Given the description of an element on the screen output the (x, y) to click on. 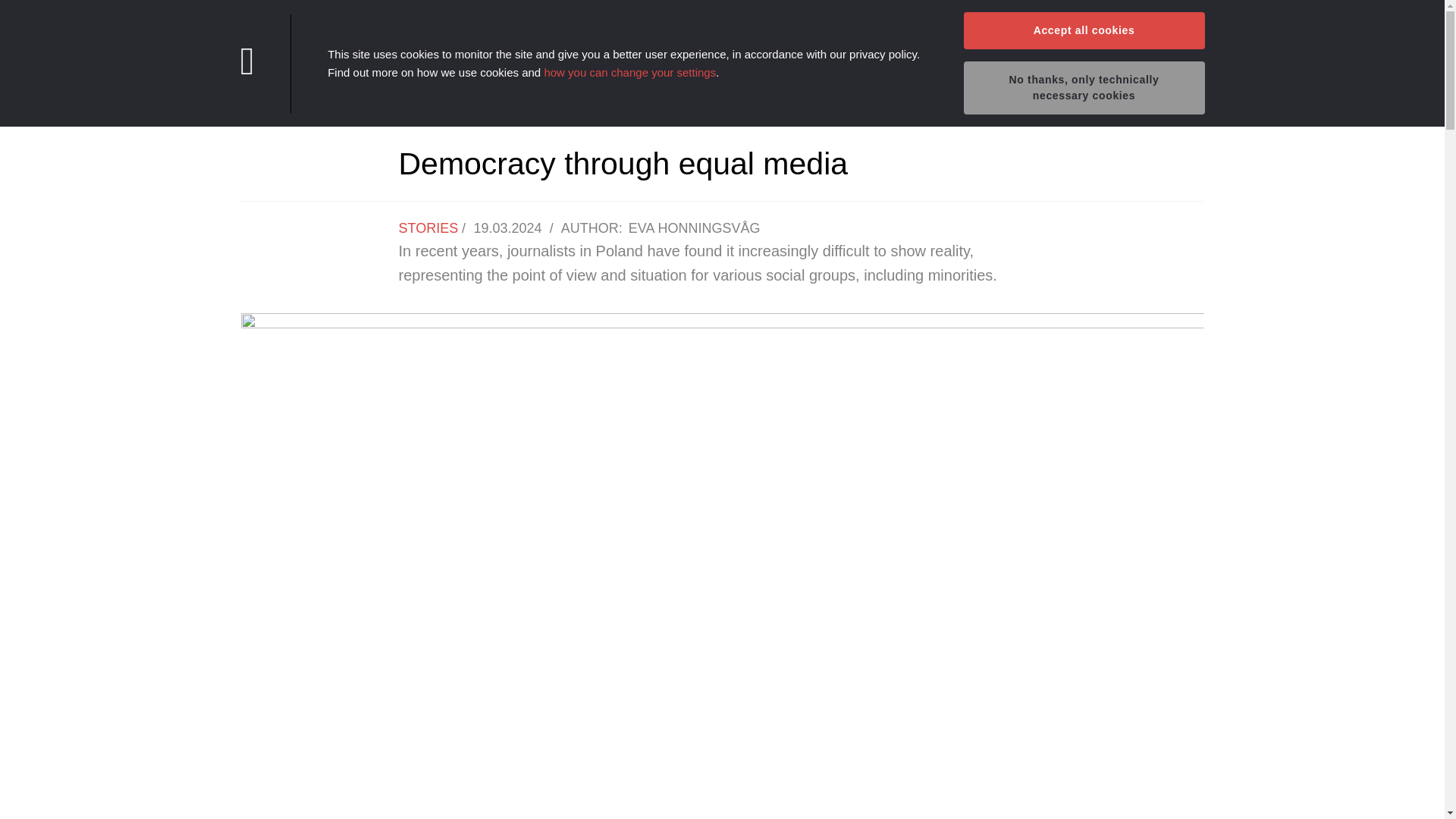
Accept all cookies (1083, 30)
how you can change your settings (629, 71)
No thanks, only technically necessary cookies (1083, 87)
